Given the description of an element on the screen output the (x, y) to click on. 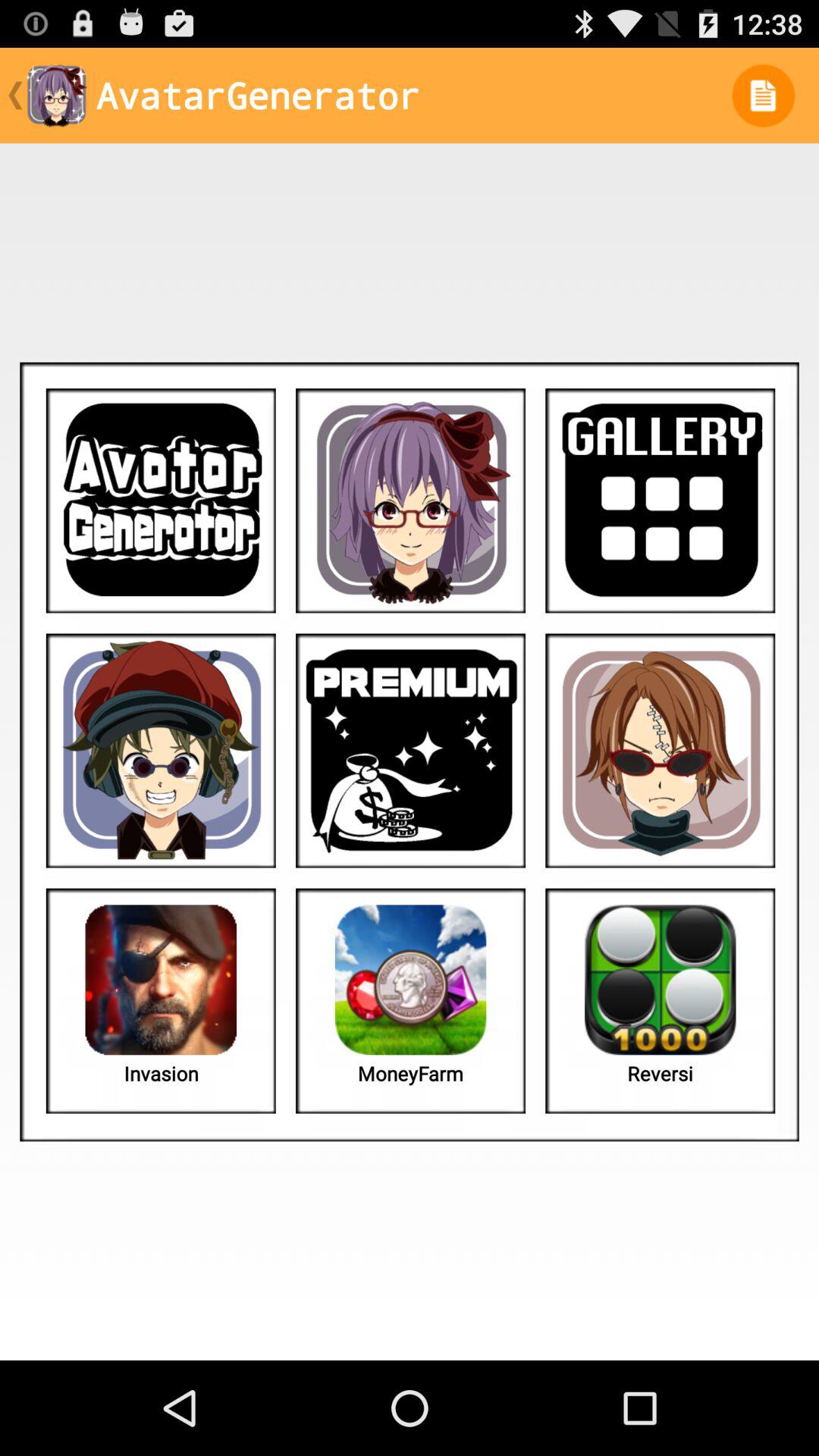
pick avator (410, 500)
